Given the description of an element on the screen output the (x, y) to click on. 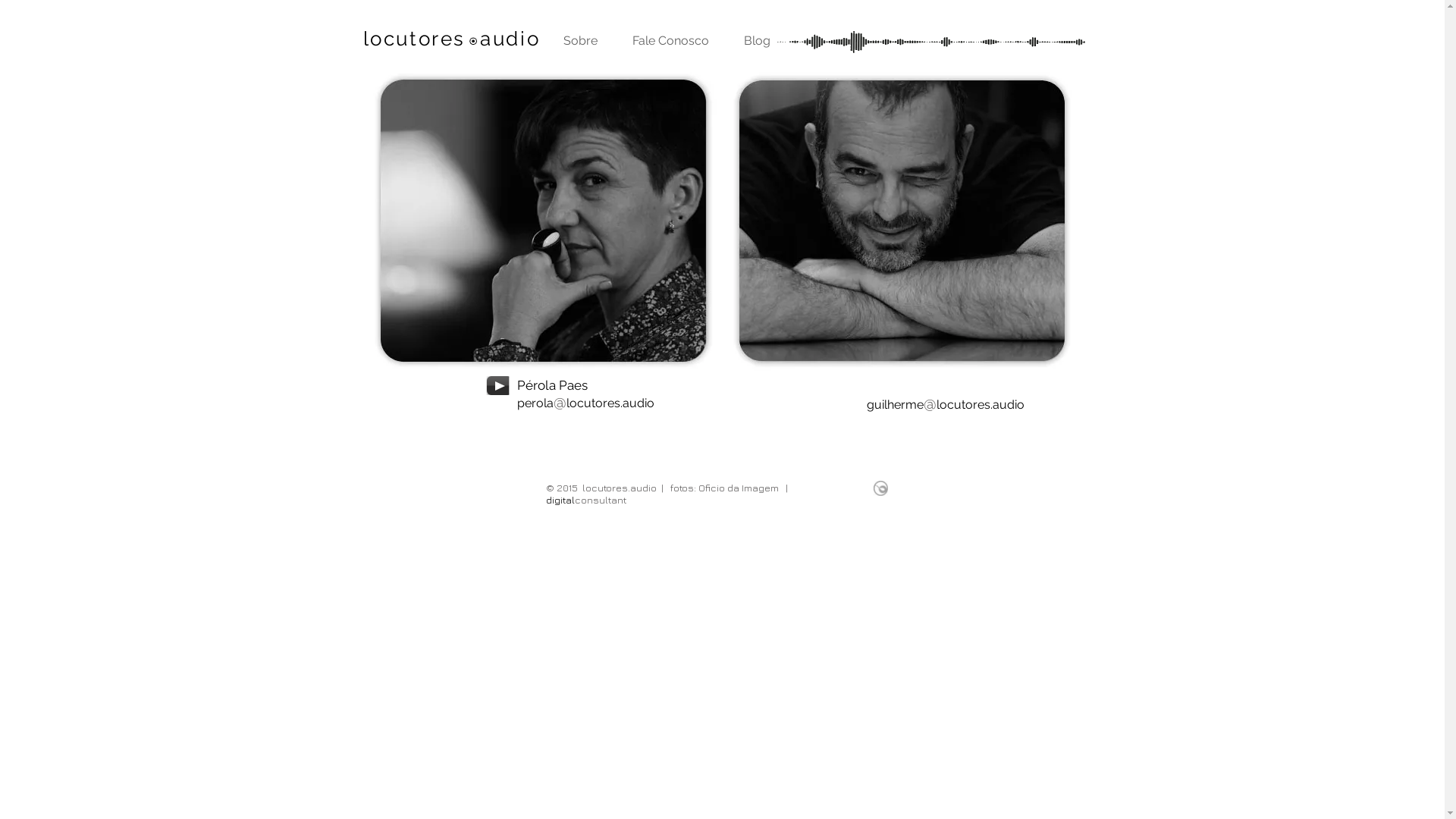
Blog Element type: text (756, 40)
Fale Conosco Element type: text (669, 40)
Oficio da Imagem Element type: text (737, 487)
guilherme@locutores.audio Element type: text (944, 404)
perola@locutores.audio Element type: text (585, 402)
digitalconsultant Element type: text (670, 505)
Locutor Guilherme Maciel Element type: hover (900, 220)
Sobre Element type: text (580, 40)
locutores  audio Element type: text (450, 38)
